Given the description of an element on the screen output the (x, y) to click on. 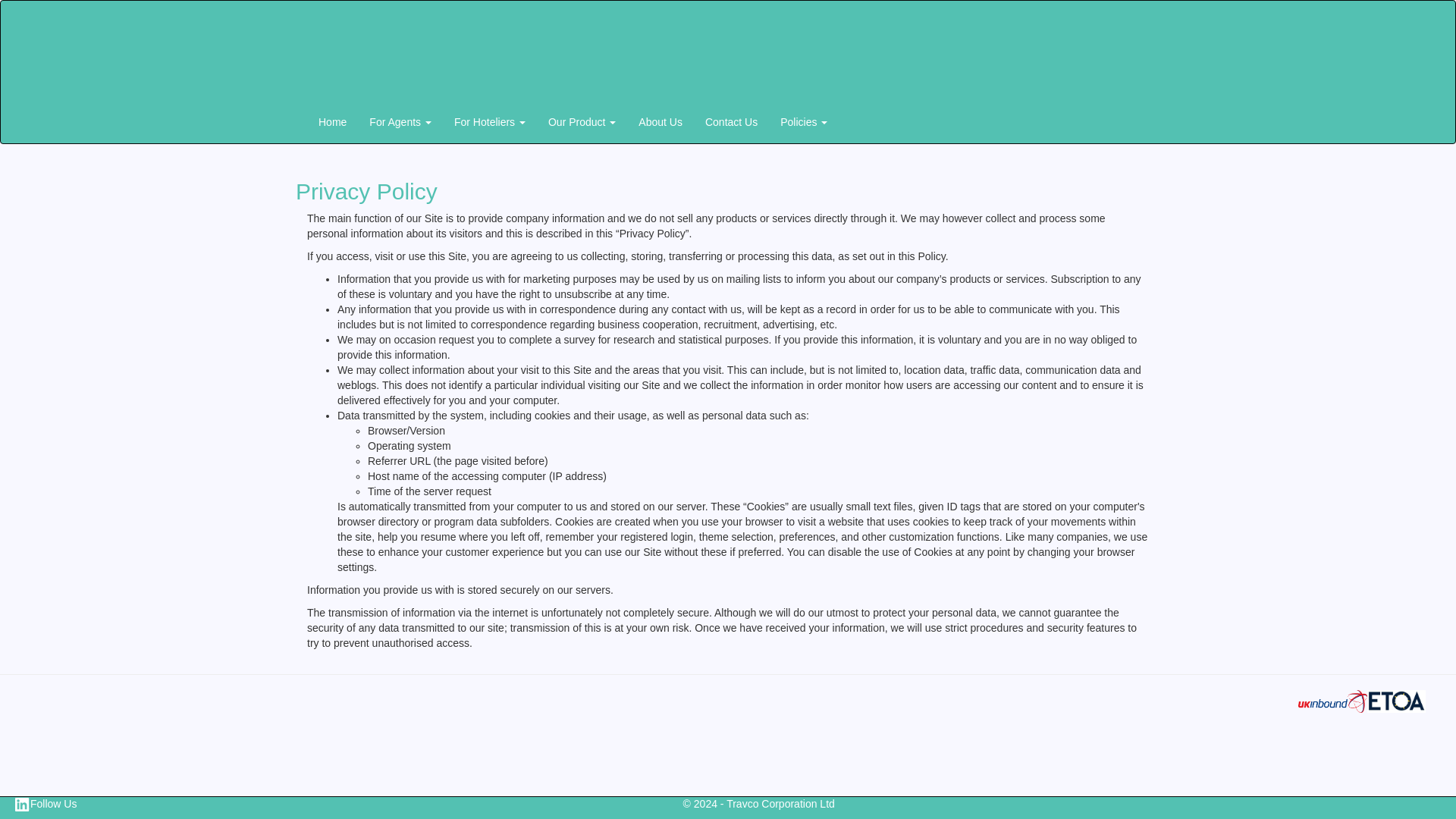
About Us (660, 121)
Home (332, 121)
Contact Us (731, 121)
For Agents (400, 121)
For Hoteliers (489, 121)
Our Product (582, 121)
Policies (803, 121)
